Given the description of an element on the screen output the (x, y) to click on. 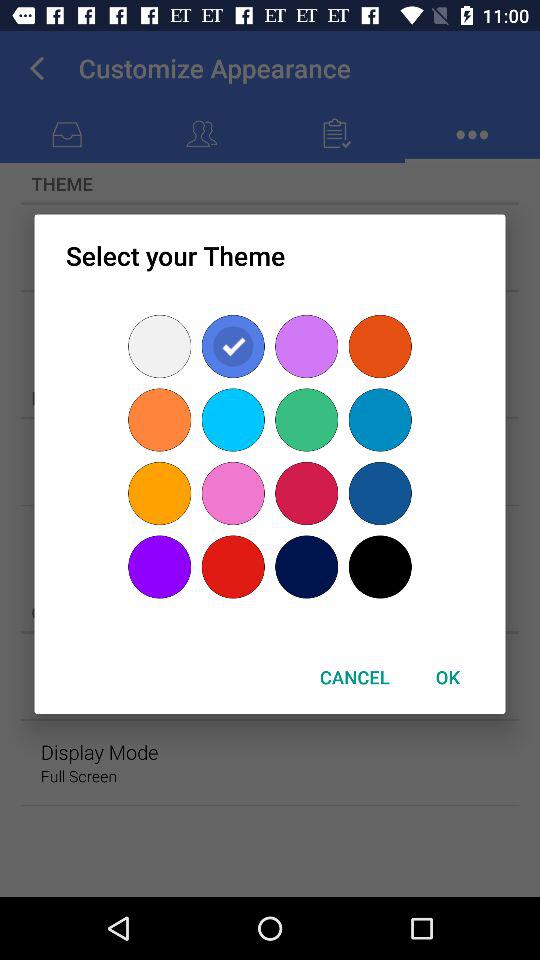
open the button to the left of ok button (354, 676)
